Given the description of an element on the screen output the (x, y) to click on. 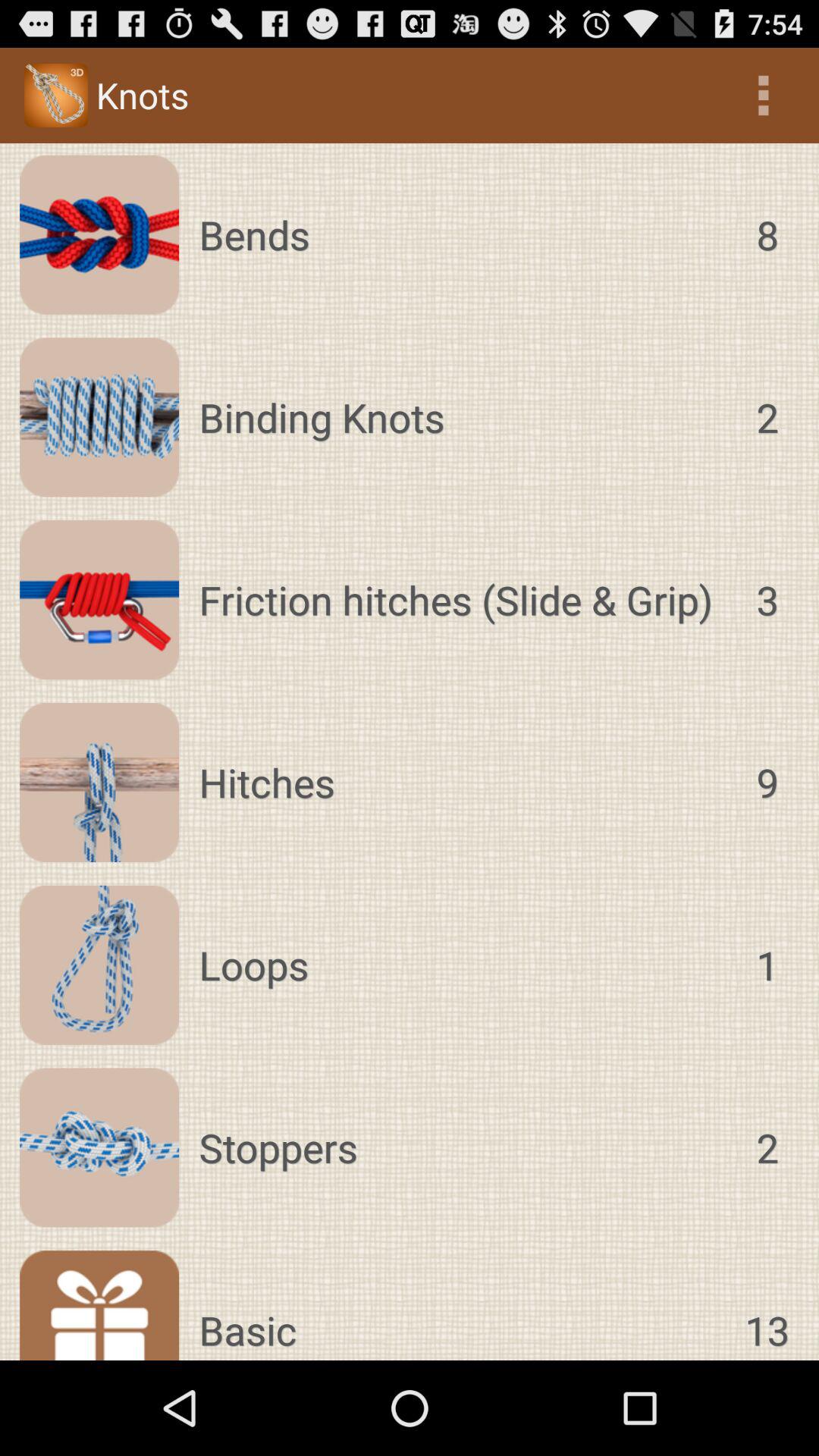
select app next to loops app (767, 964)
